Given the description of an element on the screen output the (x, y) to click on. 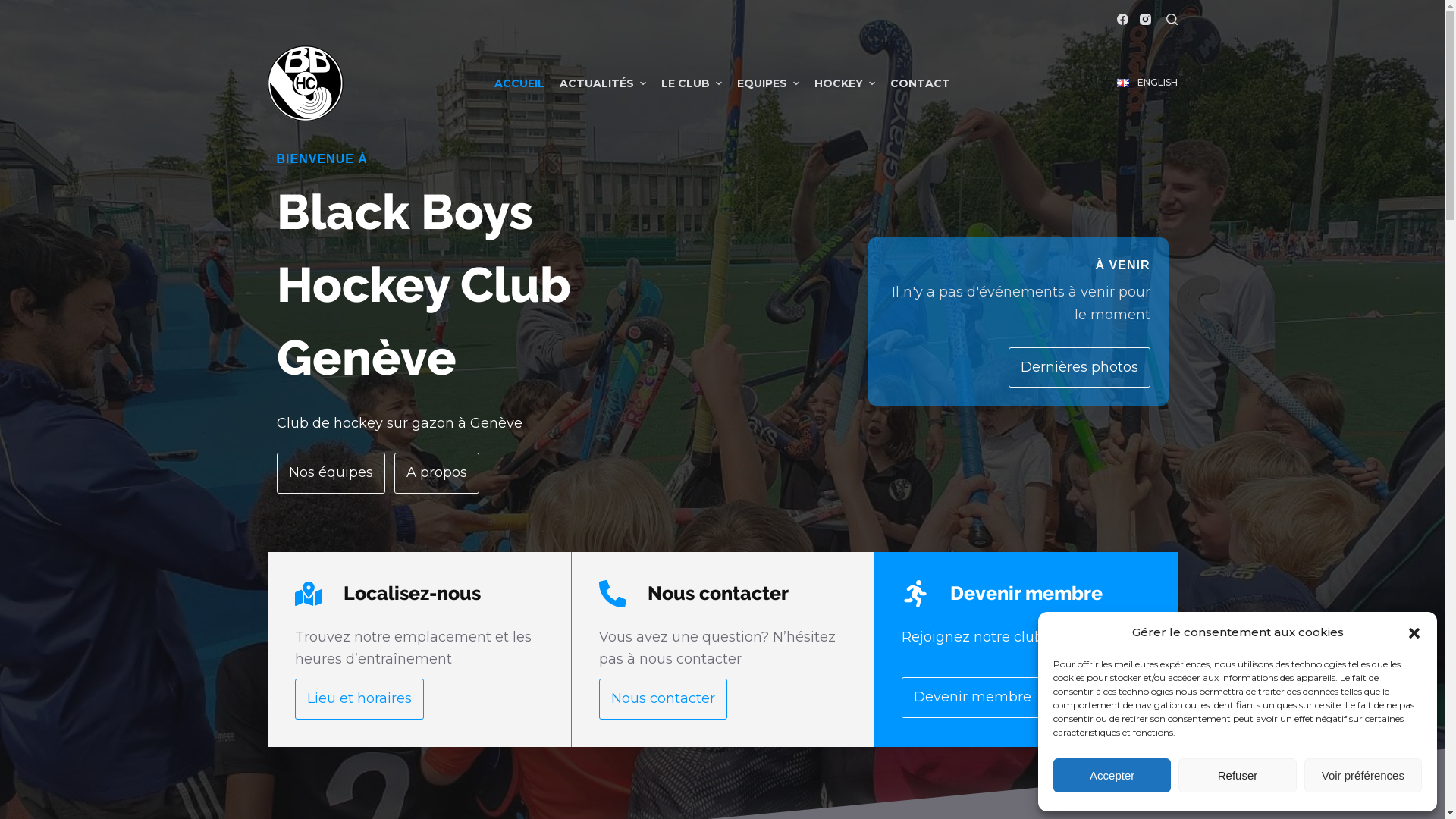
Passer au contenu Element type: text (15, 7)
Devenir membre Element type: text (971, 697)
A propos Element type: text (436, 472)
CONTACT Element type: text (919, 82)
Accepter Element type: text (1111, 775)
Refuser Element type: text (1236, 775)
ACCUEIL Element type: text (519, 82)
EQUIPES Element type: text (767, 82)
LE CLUB Element type: text (691, 82)
Nous contacter Element type: text (663, 698)
Lieu et horaires Element type: text (358, 698)
HOCKEY Element type: text (844, 82)
ENGLISH Element type: text (1147, 82)
